Given the description of an element on the screen output the (x, y) to click on. 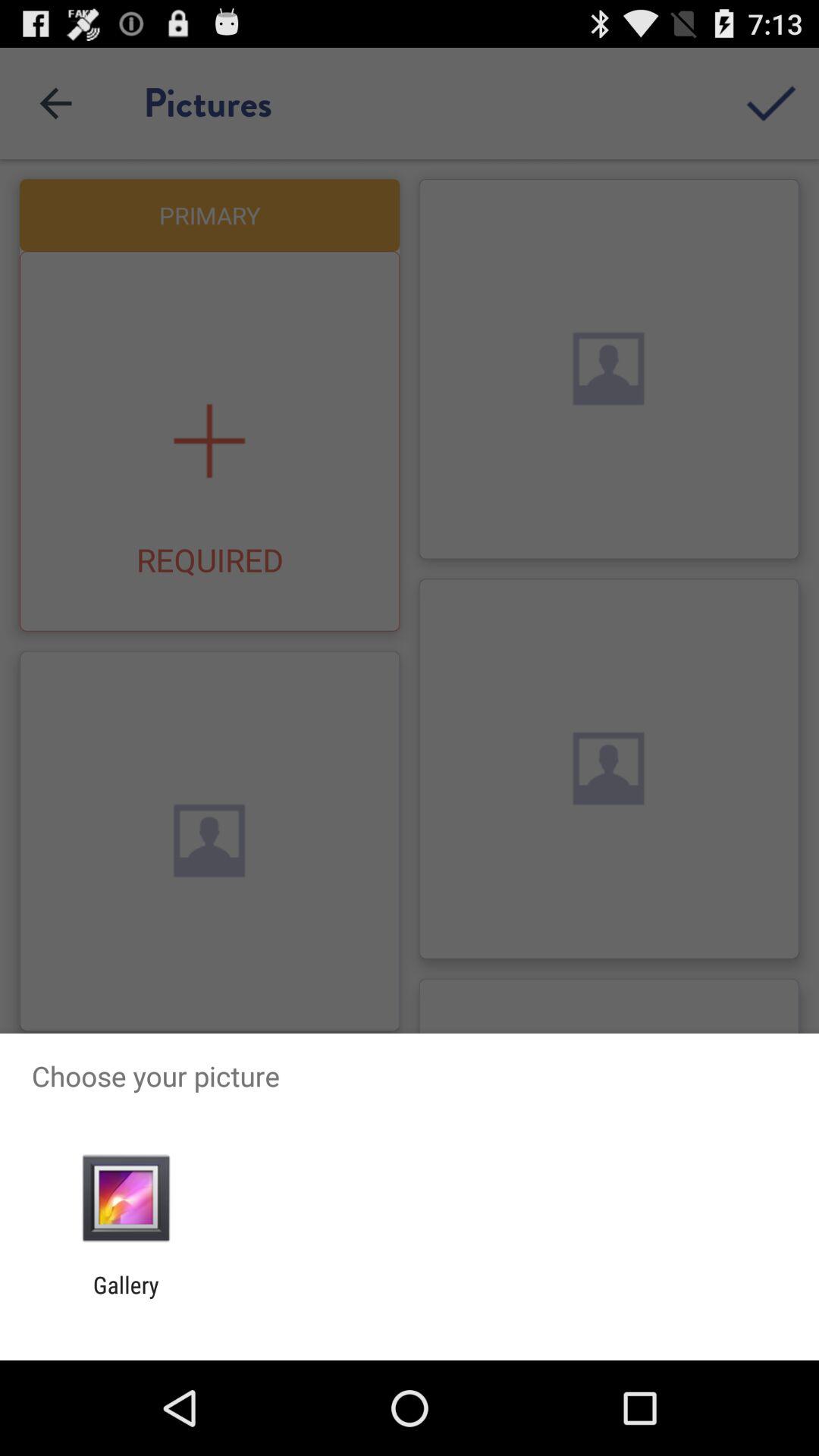
flip until gallery app (126, 1298)
